Given the description of an element on the screen output the (x, y) to click on. 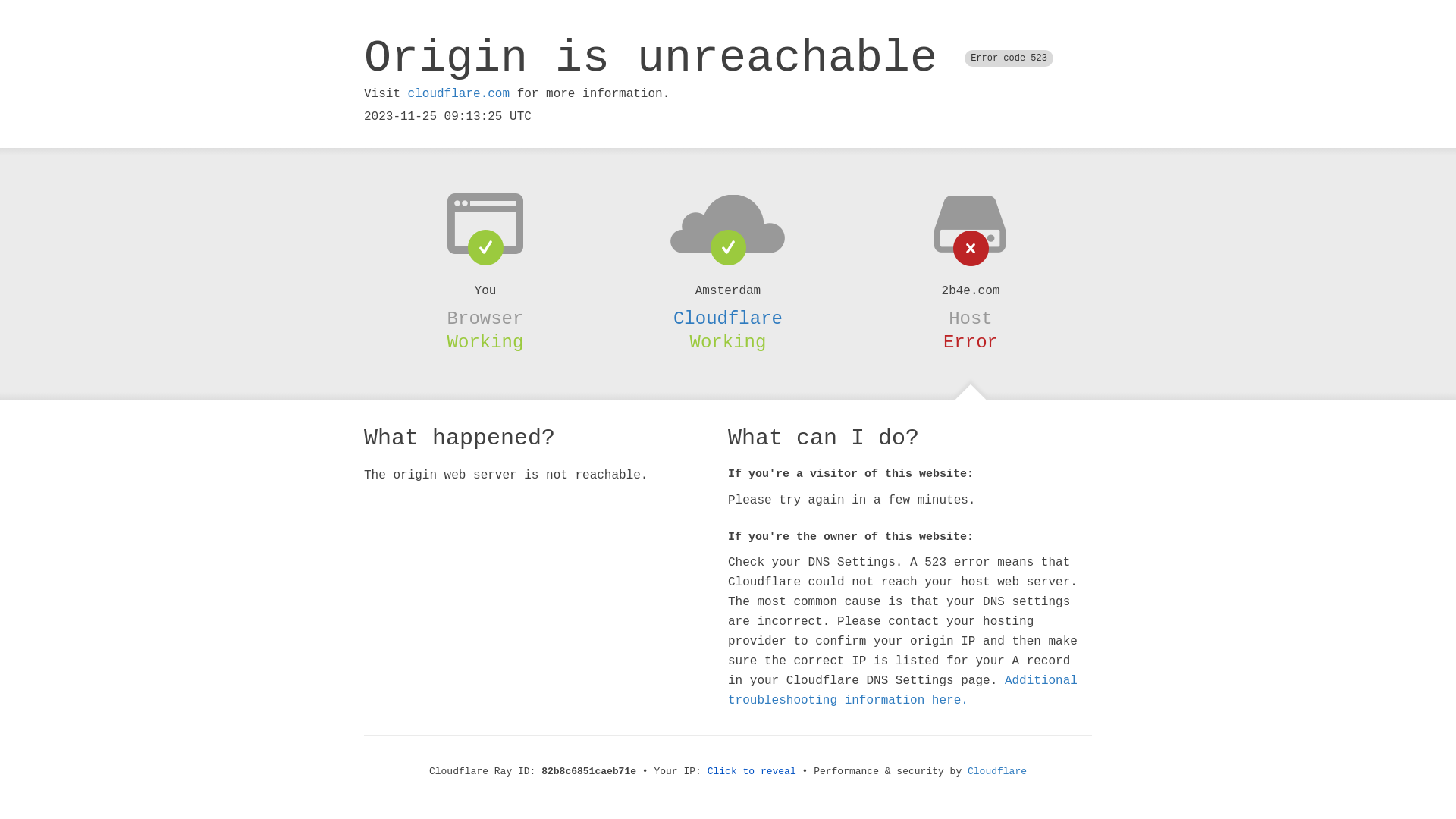
Cloudflare Element type: text (996, 771)
cloudflare.com Element type: text (458, 93)
Additional troubleshooting information here. Element type: text (902, 690)
Cloudflare Element type: text (727, 318)
Click to reveal Element type: text (751, 771)
